Given the description of an element on the screen output the (x, y) to click on. 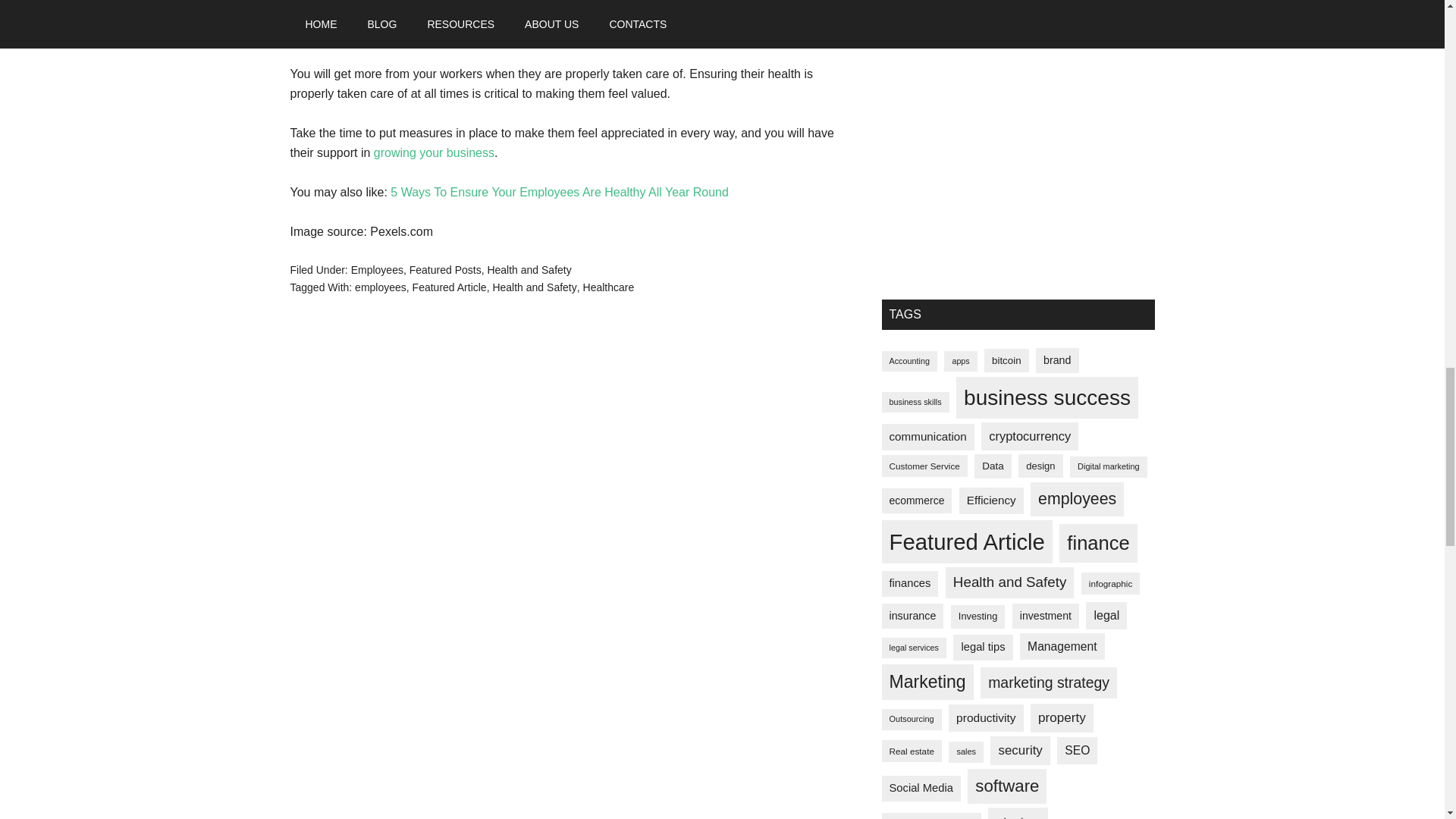
Health and Safety (534, 287)
Featured Article (449, 287)
Employees (376, 269)
Health and Safety (528, 269)
Featured Posts (445, 269)
5 Ways To Ensure Your Employees Are Healthy All Year Round (559, 192)
growing your business (434, 152)
Healthcare (608, 287)
employees (380, 287)
